Given the description of an element on the screen output the (x, y) to click on. 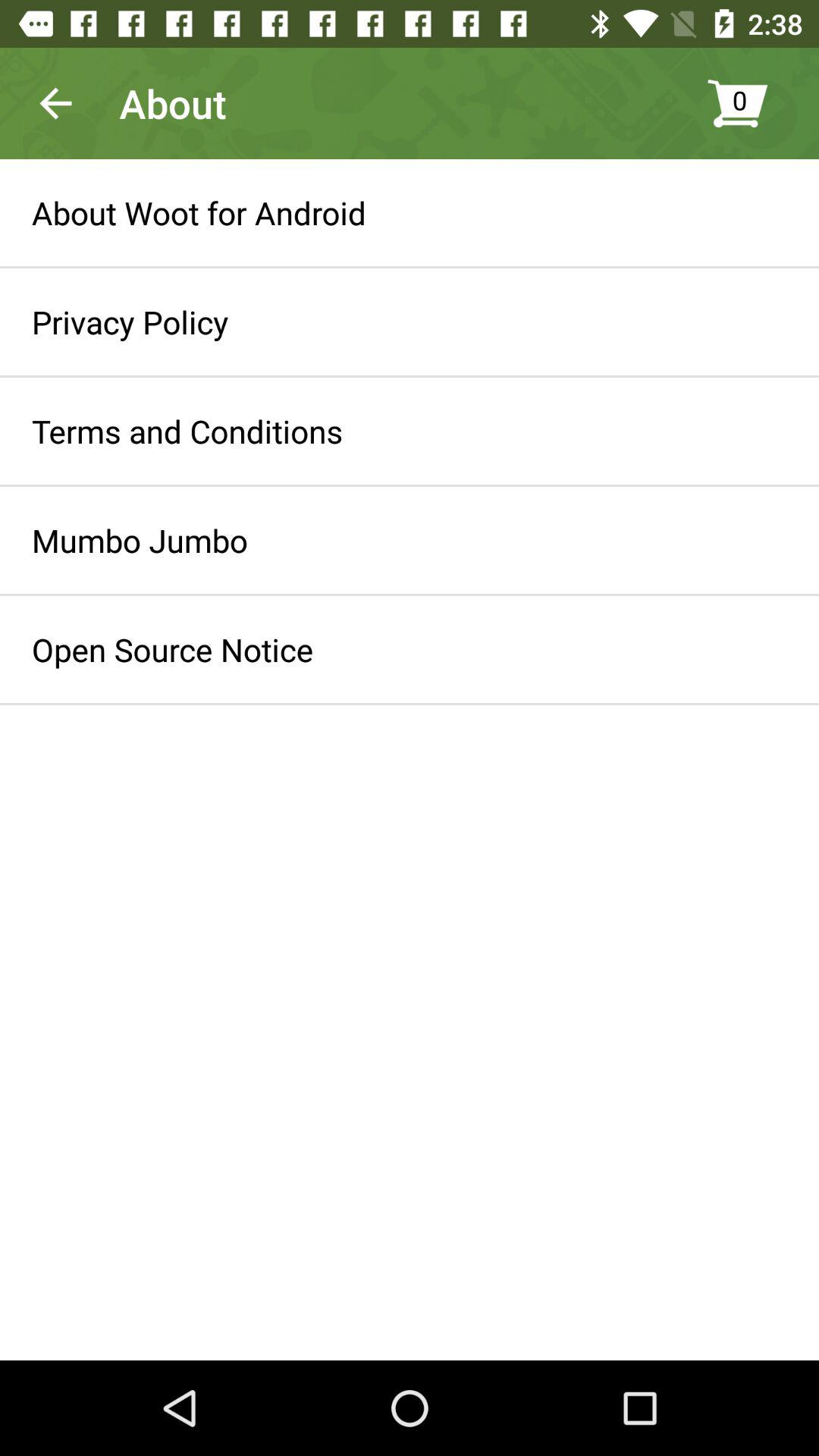
open icon below mumbo jumbo item (172, 649)
